Given the description of an element on the screen output the (x, y) to click on. 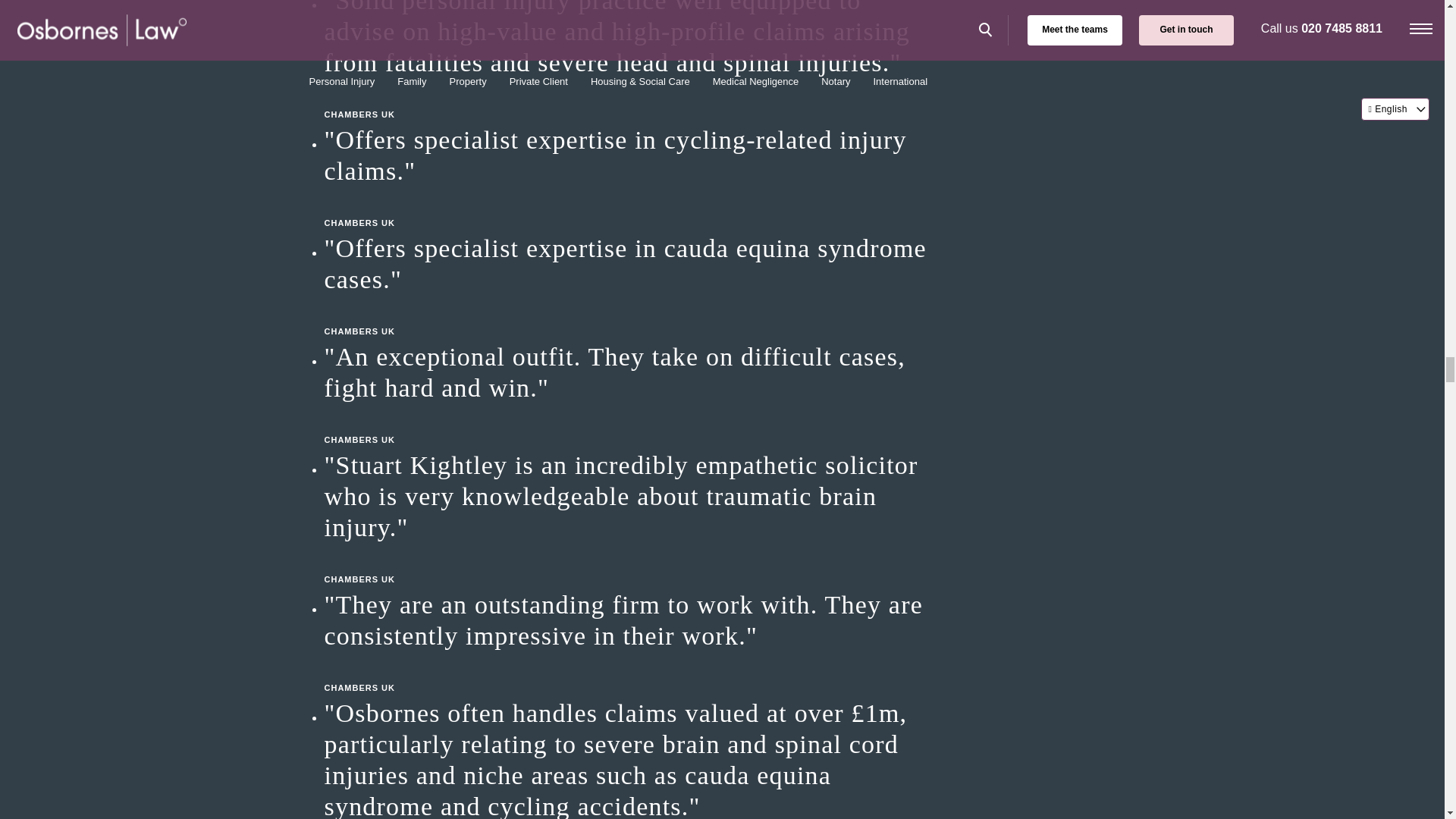
CHAMBERS UK (627, 563)
CHAMBERS UK (627, 98)
CHAMBERS UK (627, 424)
CHAMBERS UK (627, 315)
CHAMBERS UK (627, 207)
CHAMBERS UK (627, 672)
